Given the description of an element on the screen output the (x, y) to click on. 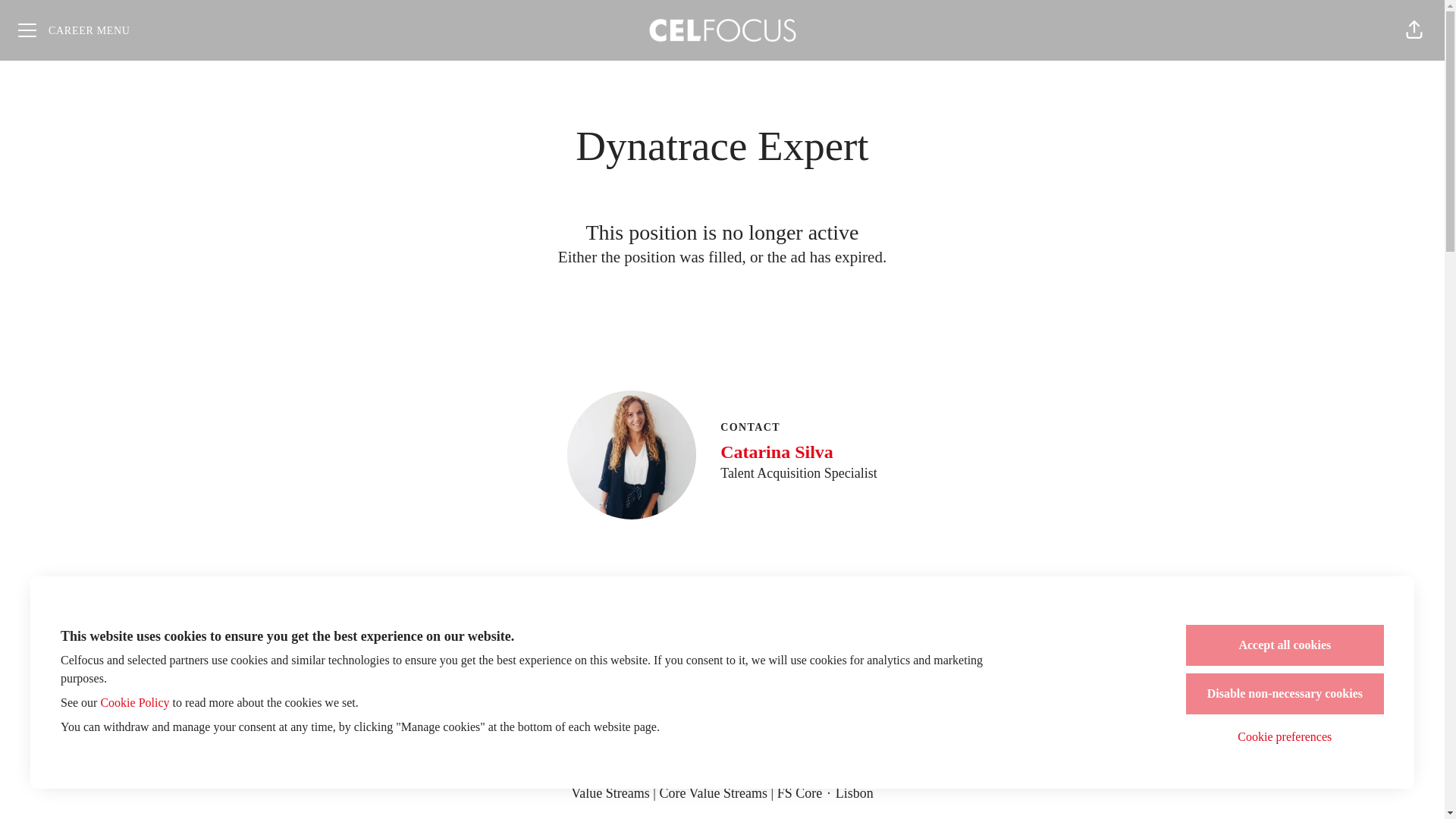
Share page (1414, 30)
Accept all cookies (1285, 644)
Catarina Silva (798, 452)
Cookie Policy (134, 702)
Analytics Engineer (721, 767)
CAREER MENU (73, 30)
Cookie preferences (1284, 736)
Disable non-necessary cookies (1285, 693)
Career menu (73, 30)
